Given the description of an element on the screen output the (x, y) to click on. 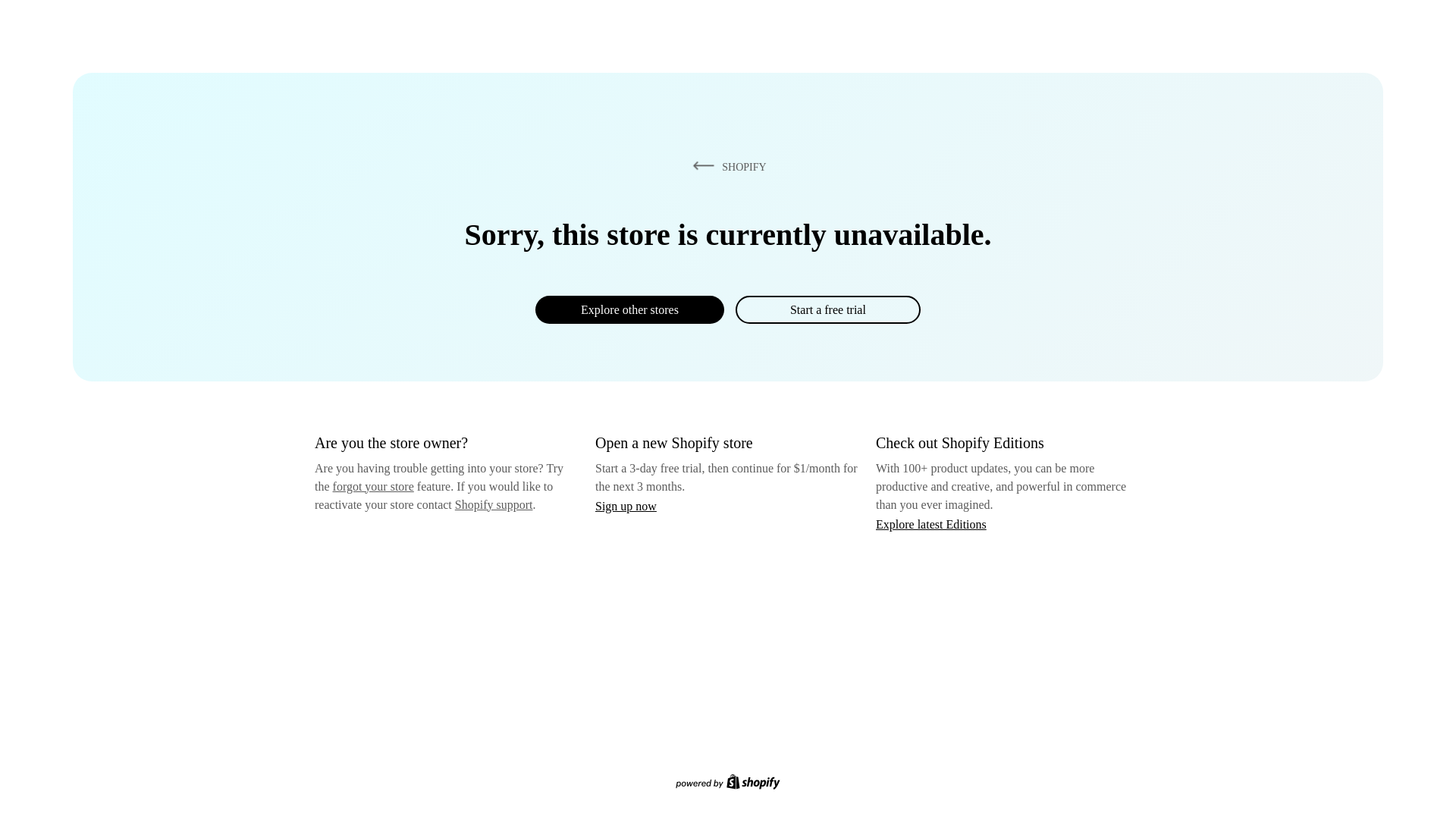
Shopify support (493, 504)
Explore latest Editions (931, 523)
Start a free trial (827, 309)
Explore other stores (629, 309)
SHOPIFY (726, 166)
Sign up now (625, 505)
forgot your store (373, 486)
